Given the description of an element on the screen output the (x, y) to click on. 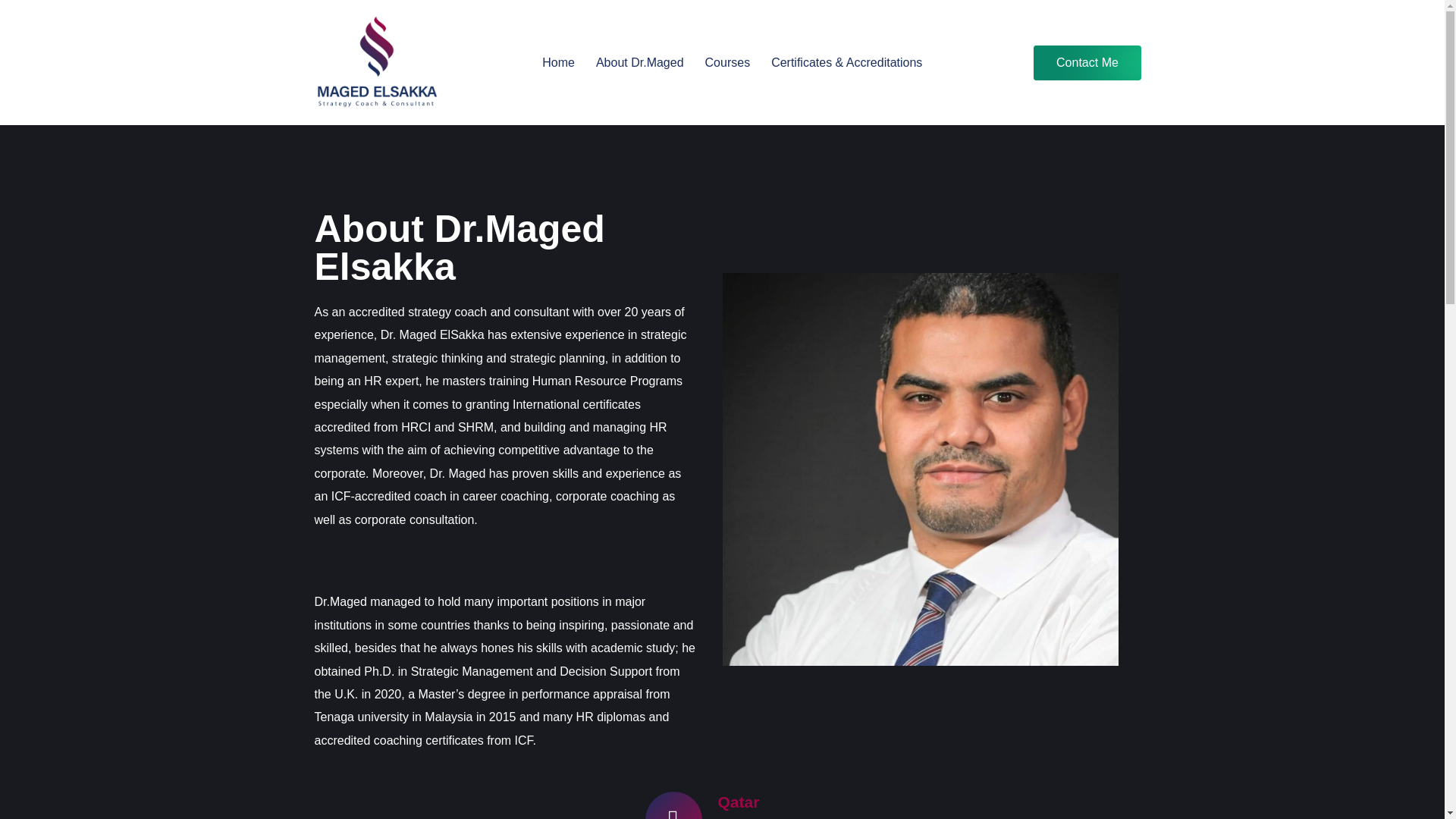
About Dr.Maged (639, 62)
Skip to content (15, 7)
Contact Me (1087, 62)
Courses (727, 62)
Home (558, 62)
